Given the description of an element on the screen output the (x, y) to click on. 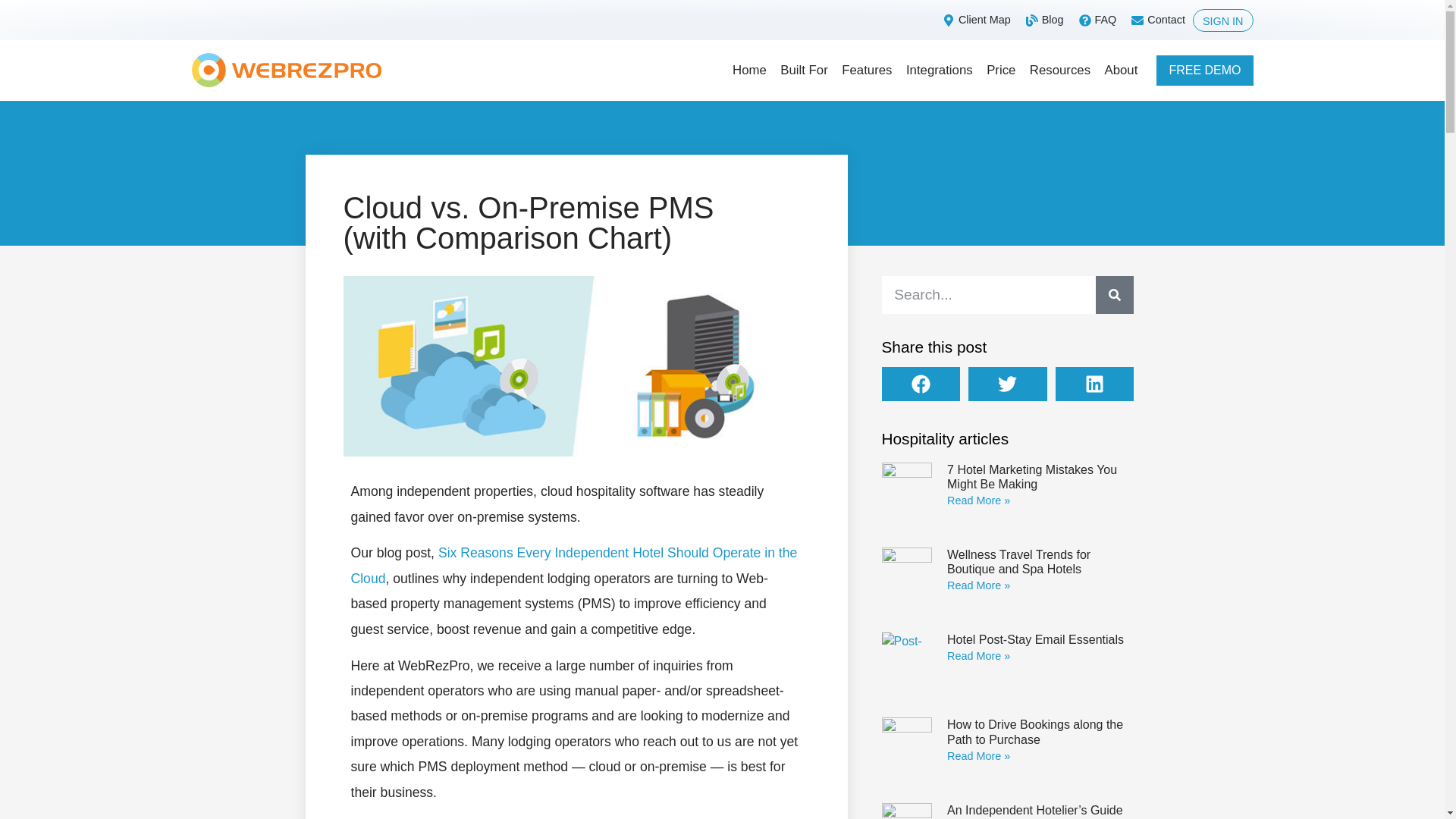
Integrations (938, 70)
Price (1000, 70)
Home (749, 70)
Blog (1043, 20)
Built For (803, 70)
Client Map (974, 20)
Resources (1059, 70)
Features (866, 70)
SIGN IN (1222, 20)
Contact (1156, 20)
